Given the description of an element on the screen output the (x, y) to click on. 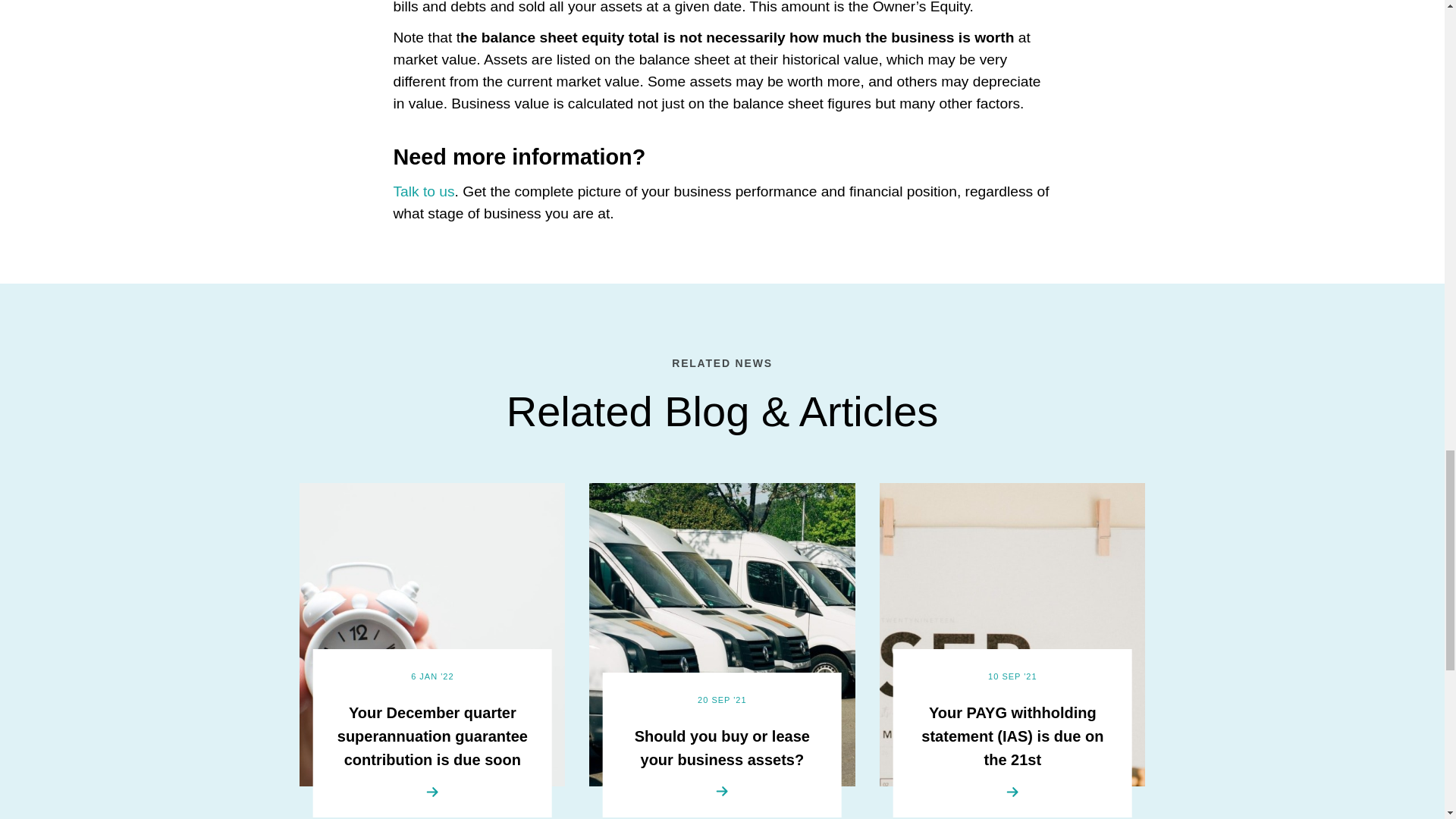
Talk to us (423, 191)
